Given the description of an element on the screen output the (x, y) to click on. 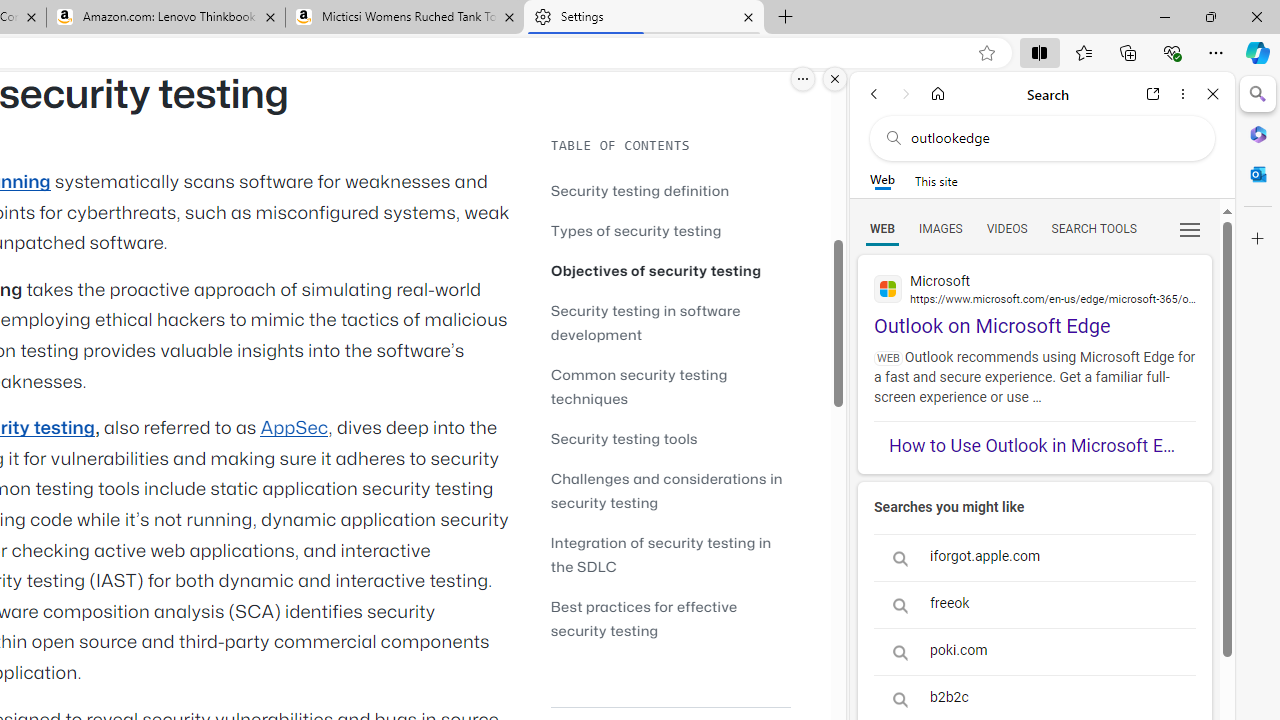
Common security testing techniques (639, 385)
Common security testing techniques (670, 386)
iforgot.apple.com (1034, 557)
AppSec (293, 428)
Security testing definition (639, 190)
Objectives of security testing (655, 270)
